Given the description of an element on the screen output the (x, y) to click on. 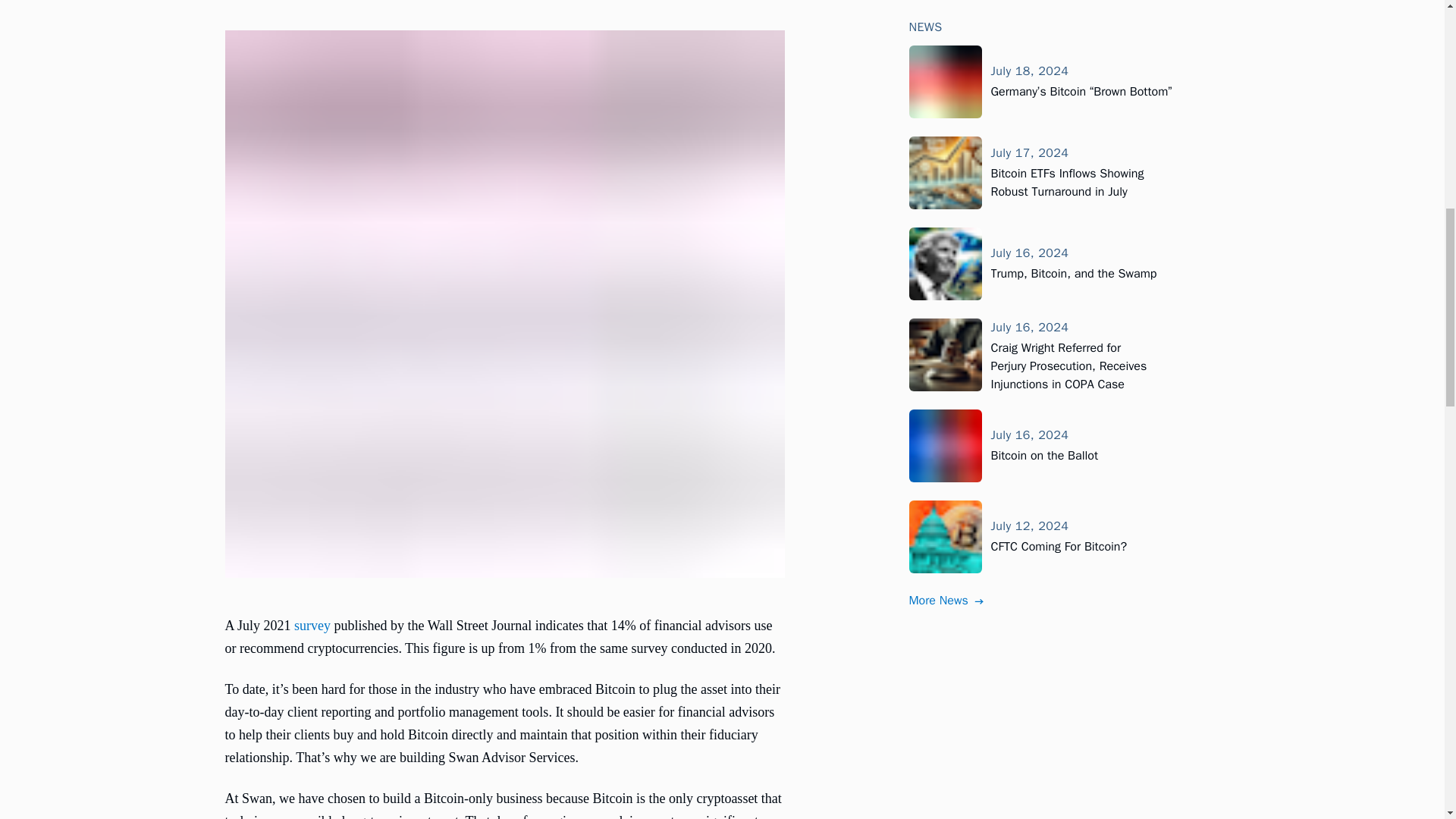
survey (312, 625)
Trump, Bitcoin, and the Swamp (1073, 48)
Bitcoin on the Ballot (1043, 231)
CFTC Coming For Bitcoin? (1058, 322)
More News (946, 375)
